Given the description of an element on the screen output the (x, y) to click on. 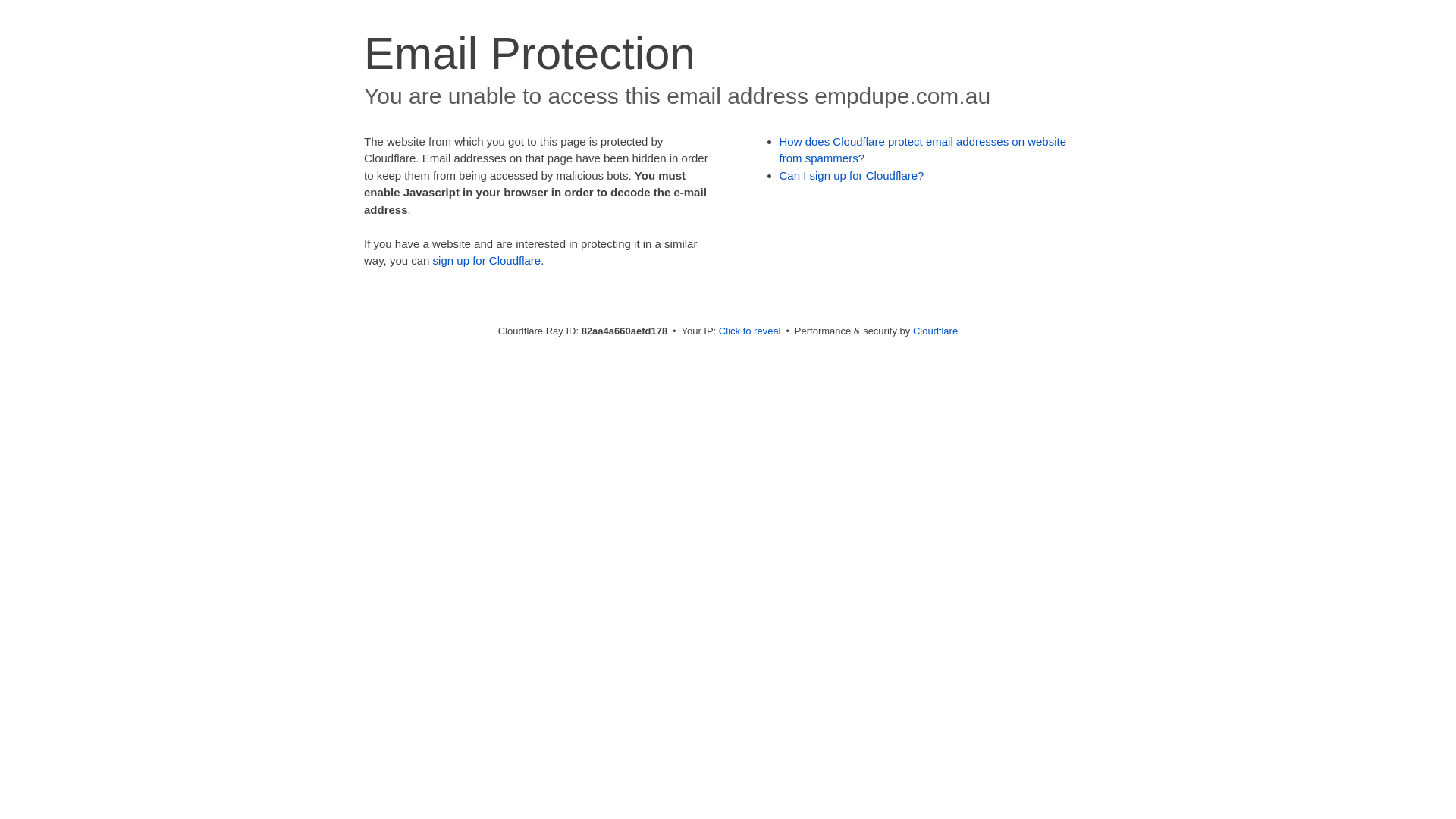
Cloudflare Element type: text (935, 330)
Can I sign up for Cloudflare? Element type: text (851, 175)
sign up for Cloudflare Element type: text (487, 260)
Click to reveal Element type: text (749, 330)
